Given the description of an element on the screen output the (x, y) to click on. 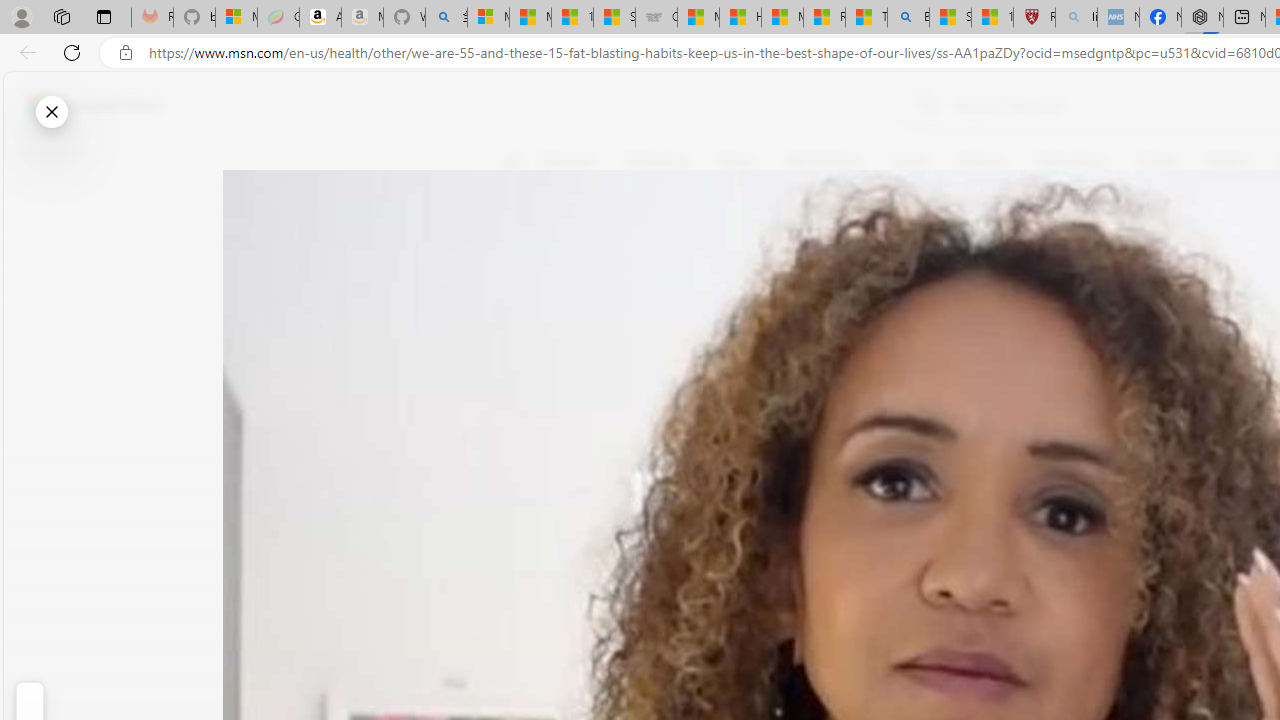
Body Network (788, 259)
Dislike (525, 300)
News (738, 162)
Bing (908, 17)
Start the conversation (525, 356)
Recipes - MSN (823, 17)
Class: button-glyph (513, 162)
6 (525, 300)
Combat Siege (656, 17)
Local (909, 162)
Science (980, 162)
